Given the description of an element on the screen output the (x, y) to click on. 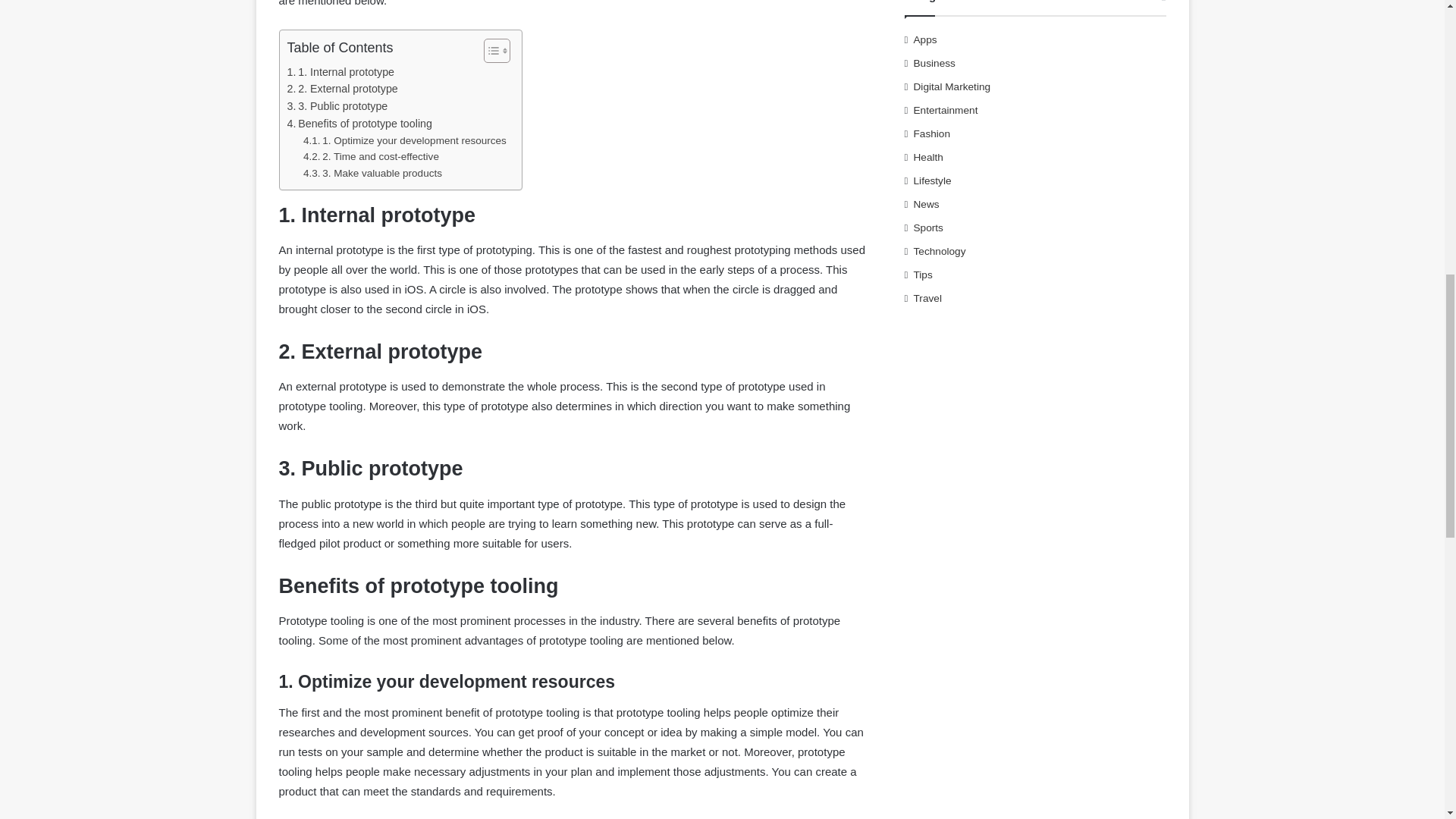
2. External prototype (341, 88)
3. Public prototype (336, 106)
3. Make valuable products (372, 173)
3. Make valuable products (372, 173)
1. Optimize your development resources (404, 140)
1. Optimize your development resources (404, 140)
Benefits of prototype tooling (358, 123)
2. Time and cost-effective (370, 156)
1. Internal prototype (340, 72)
Benefits of prototype tooling (358, 123)
2. Time and cost-effective (370, 156)
2. External prototype (341, 88)
1. Internal prototype (340, 72)
3. Public prototype (336, 106)
